Given the description of an element on the screen output the (x, y) to click on. 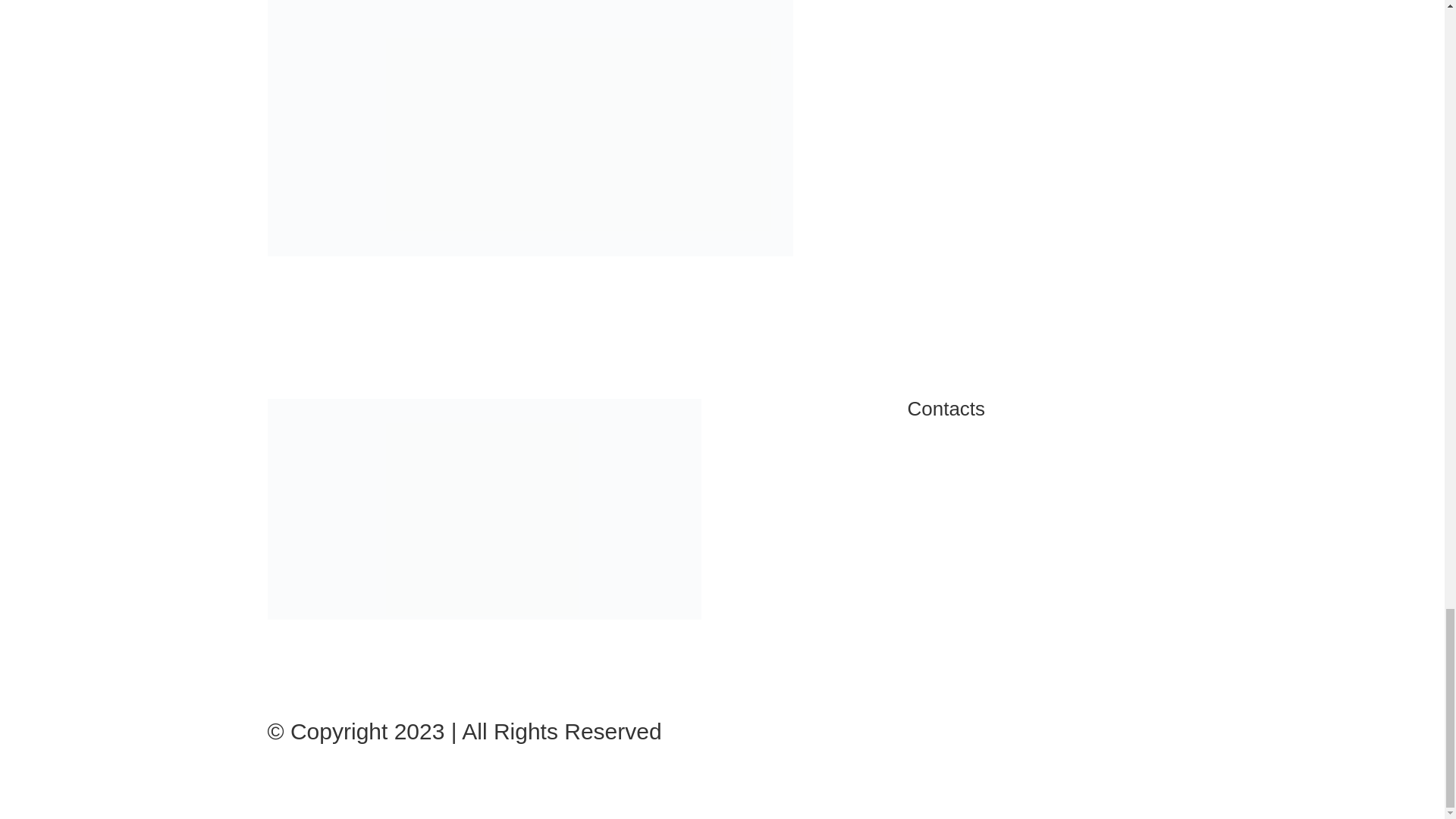
Follow on LinkedIn (400, 656)
Follow on Facebook (278, 656)
Follow on Instagram (339, 656)
Follow on Youtube (369, 656)
Asset 4streit (483, 508)
Follow on X (309, 656)
